Given the description of an element on the screen output the (x, y) to click on. 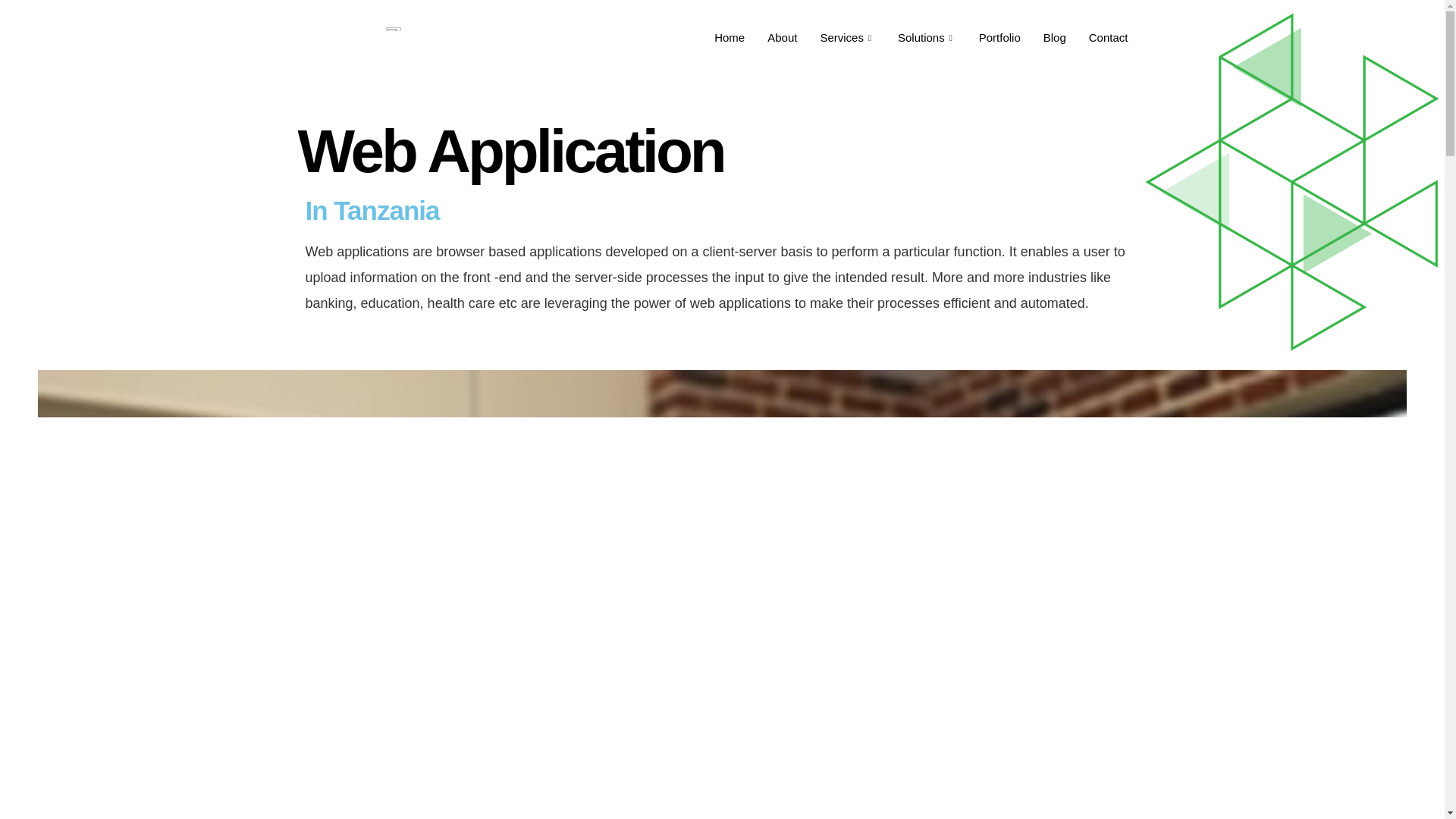
Services (847, 37)
About (781, 37)
Portfolio (1000, 37)
Home (729, 37)
Solutions (927, 37)
Blog (1054, 37)
Contact (1108, 37)
